Given the description of an element on the screen output the (x, y) to click on. 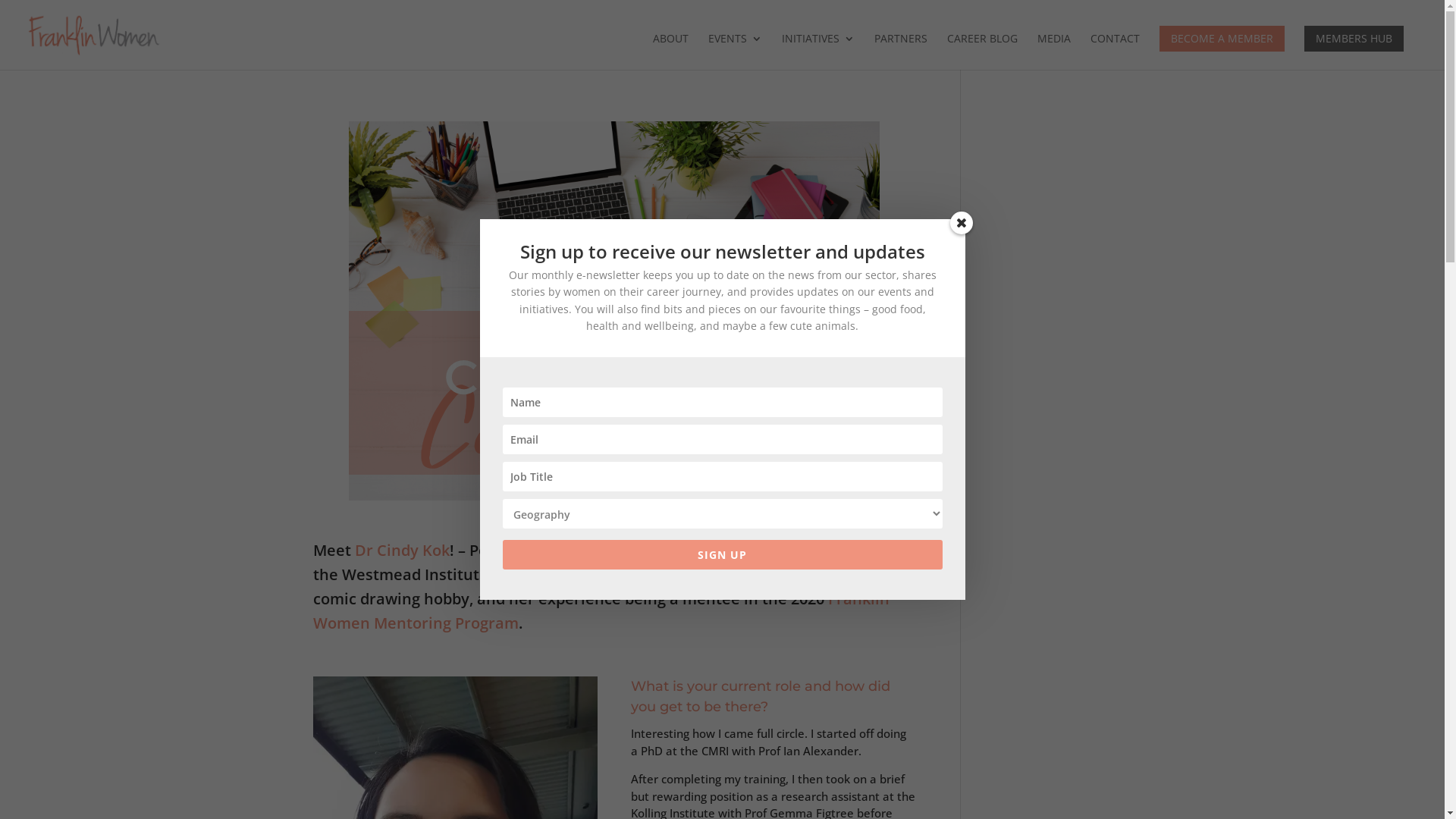
CONTACT Element type: text (1114, 51)
INITIATIVES Element type: text (817, 51)
Cindy Career Blog Element type: hover (613, 310)
MEMBERS HUB Element type: text (1353, 38)
SIGN UP Element type: text (721, 554)
CAREER BLOG Element type: text (982, 51)
Franklin Women Mentoring Program Element type: text (600, 610)
ABOUT Element type: text (670, 51)
MEDIA Element type: text (1053, 51)
Dr Cindy Kok Element type: text (401, 549)
EVENTS Element type: text (735, 51)
BECOME A MEMBER Element type: text (1221, 38)
PARTNERS Element type: text (900, 51)
